Given the description of an element on the screen output the (x, y) to click on. 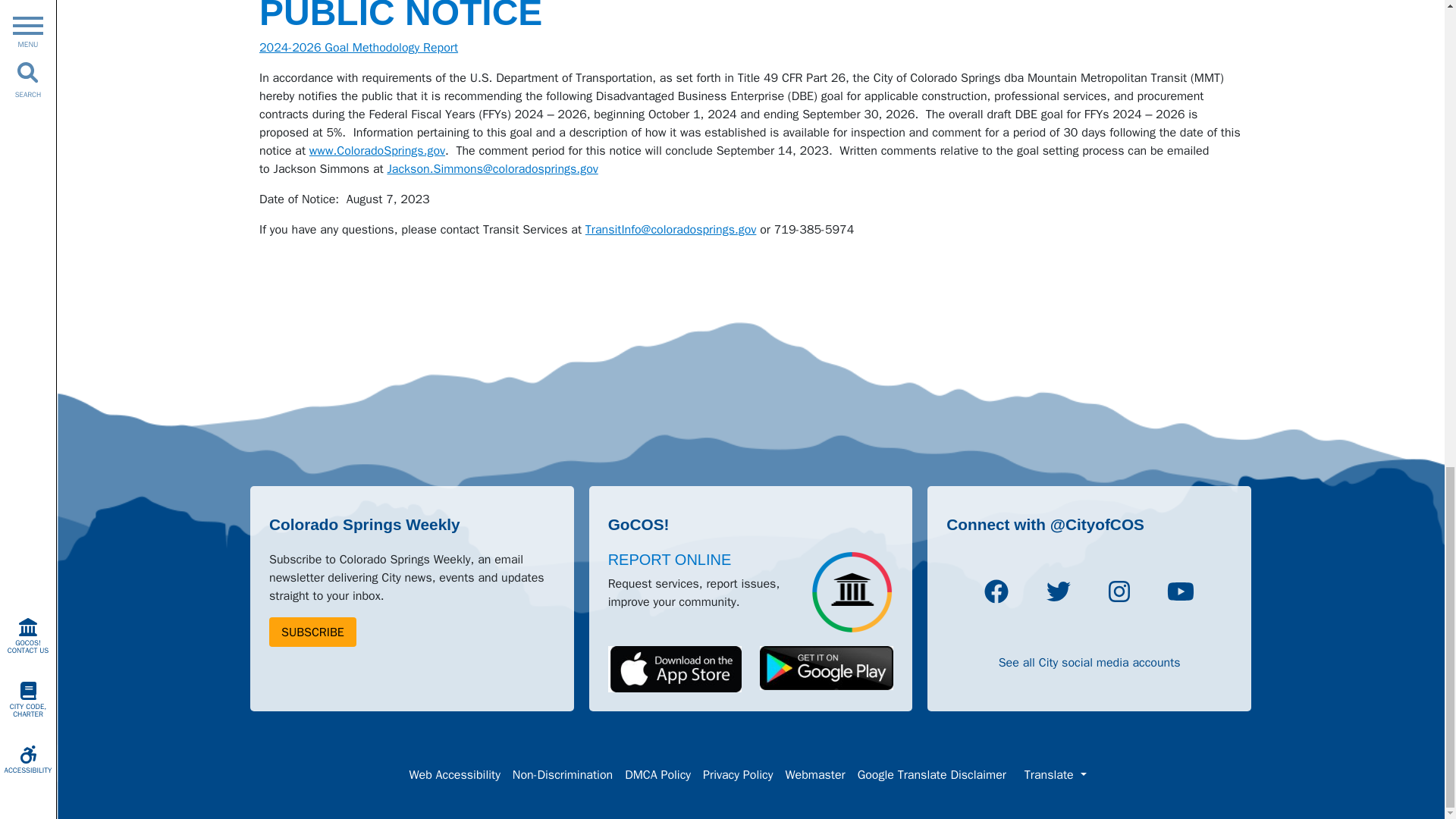
www.ColoradoSprings.gov (376, 150)
SUBSCRIBE (312, 631)
Privacy Policy (737, 775)
Translate (1055, 774)
2024-2026 Goal Methodology Report (358, 47)
Non-Discrimination (562, 775)
Google Translate Disclaimer (931, 775)
Web Accessibility (454, 775)
DMCA Policy (657, 775)
Webmaster (814, 775)
See all City social media accounts (1089, 662)
